Given the description of an element on the screen output the (x, y) to click on. 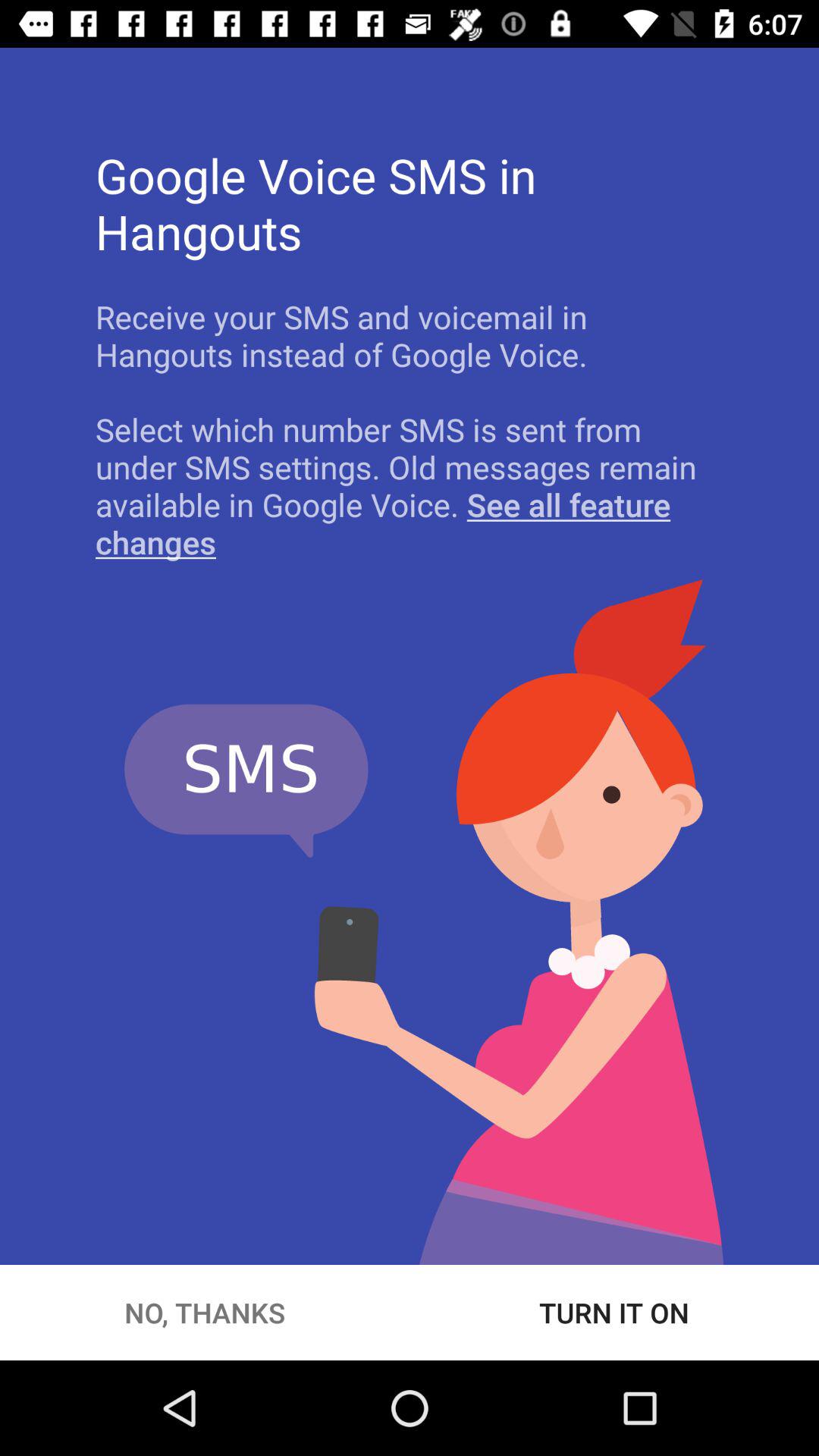
flip until the no, thanks icon (204, 1312)
